Given the description of an element on the screen output the (x, y) to click on. 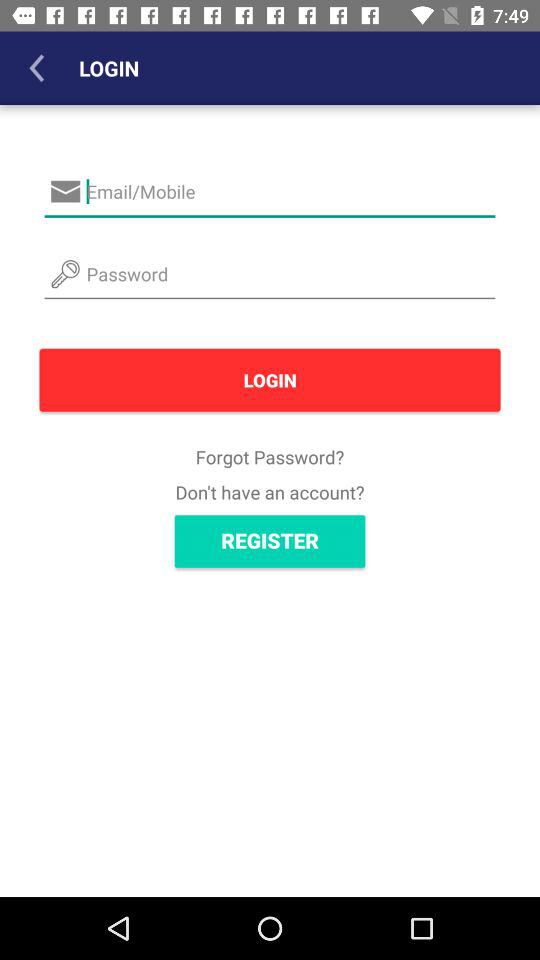
choose don t have icon (269, 492)
